Given the description of an element on the screen output the (x, y) to click on. 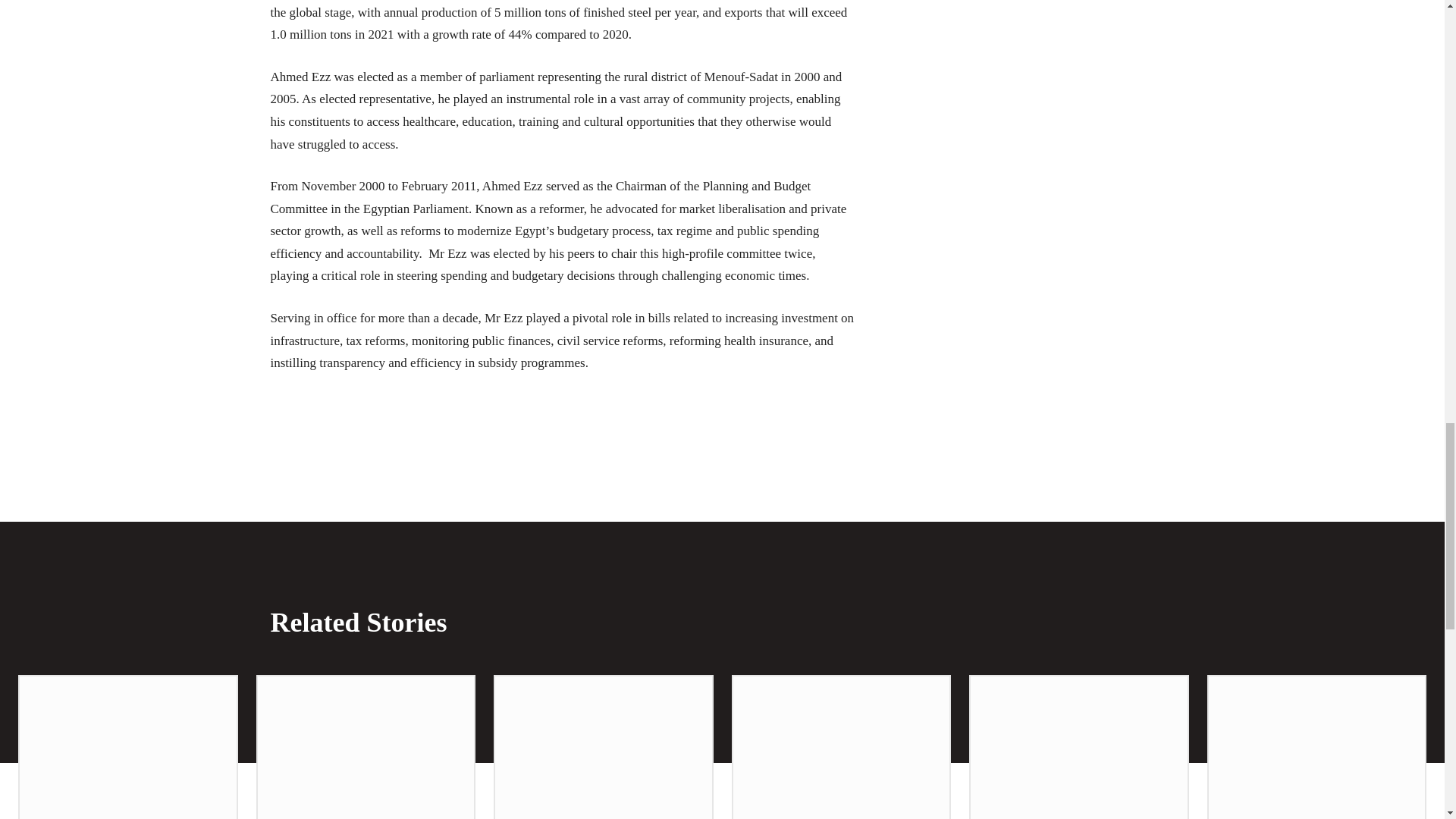
FREY acquires ROS, The 4th Largest Outlet Operator In Europe (365, 747)
